Given the description of an element on the screen output the (x, y) to click on. 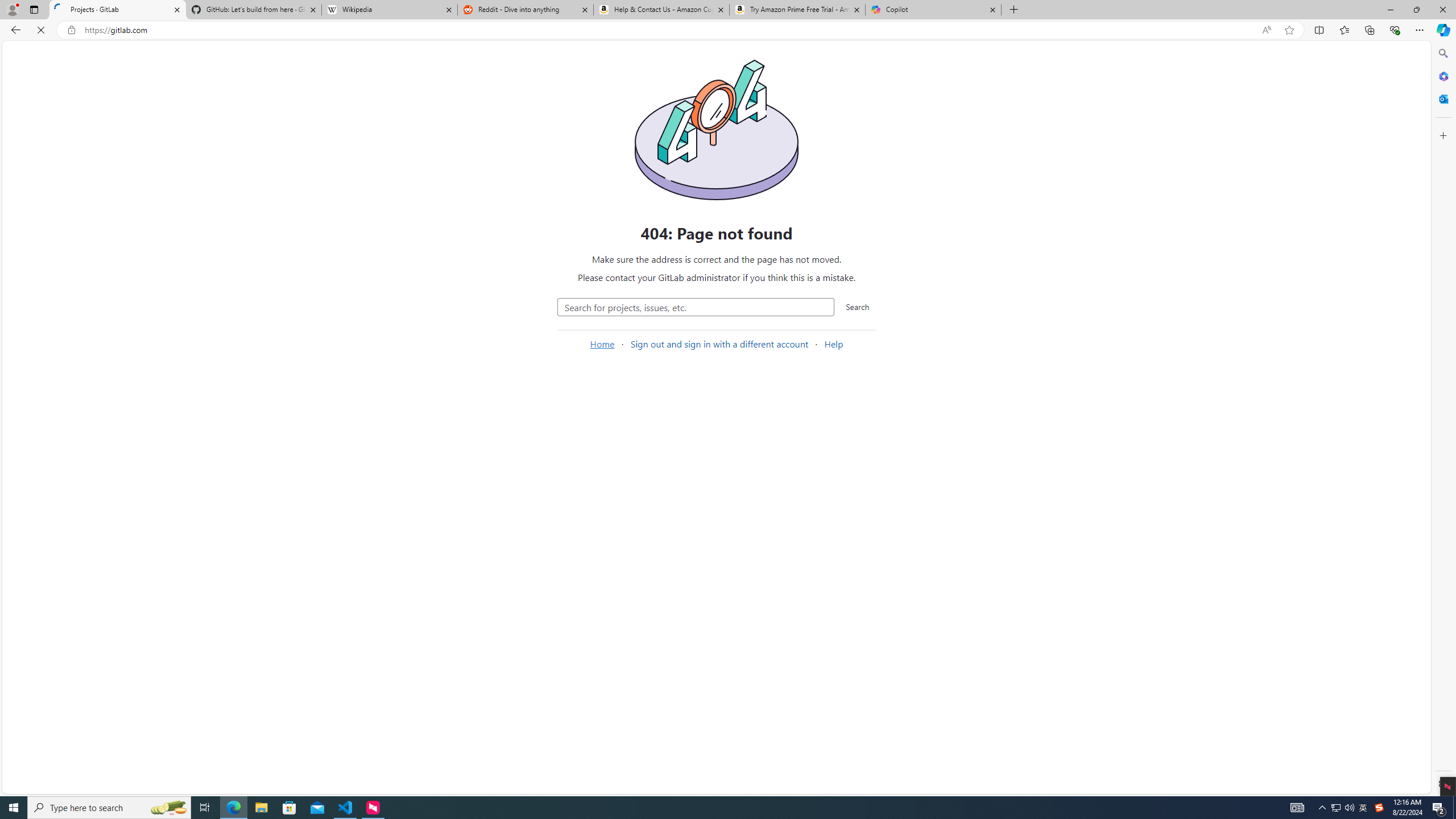
Class: s16 gl-icon gl-button-icon  (1132, 93)
Activity (74, 282)
Shopping in Microsoft Edge (1243, 29)
To-Do list 0 (120, 76)
Milestones (74, 244)
Your work (178, 53)
Operations (74, 340)
